Given the description of an element on the screen output the (x, y) to click on. 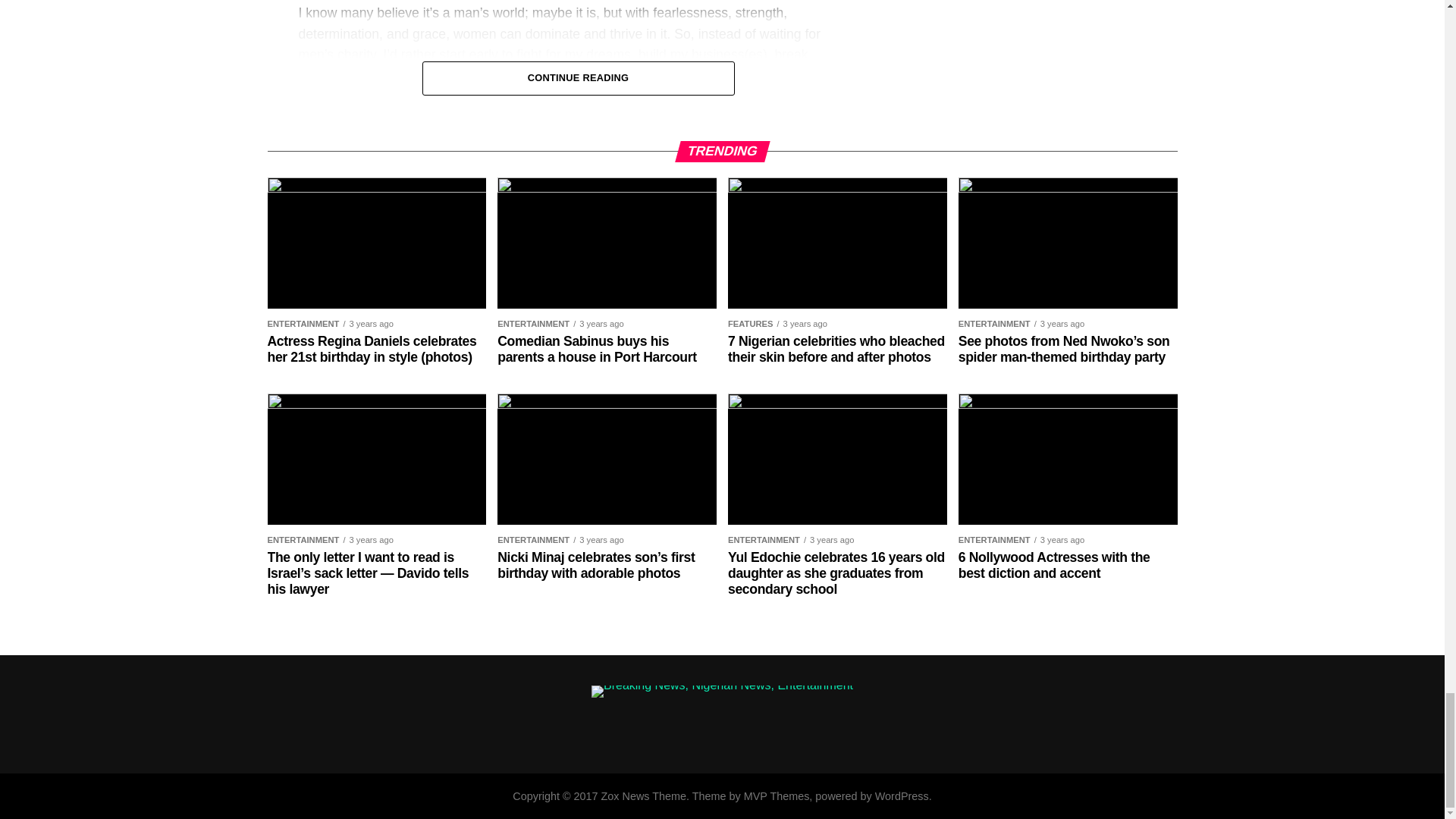
CONTINUE READING (577, 76)
